Given the description of an element on the screen output the (x, y) to click on. 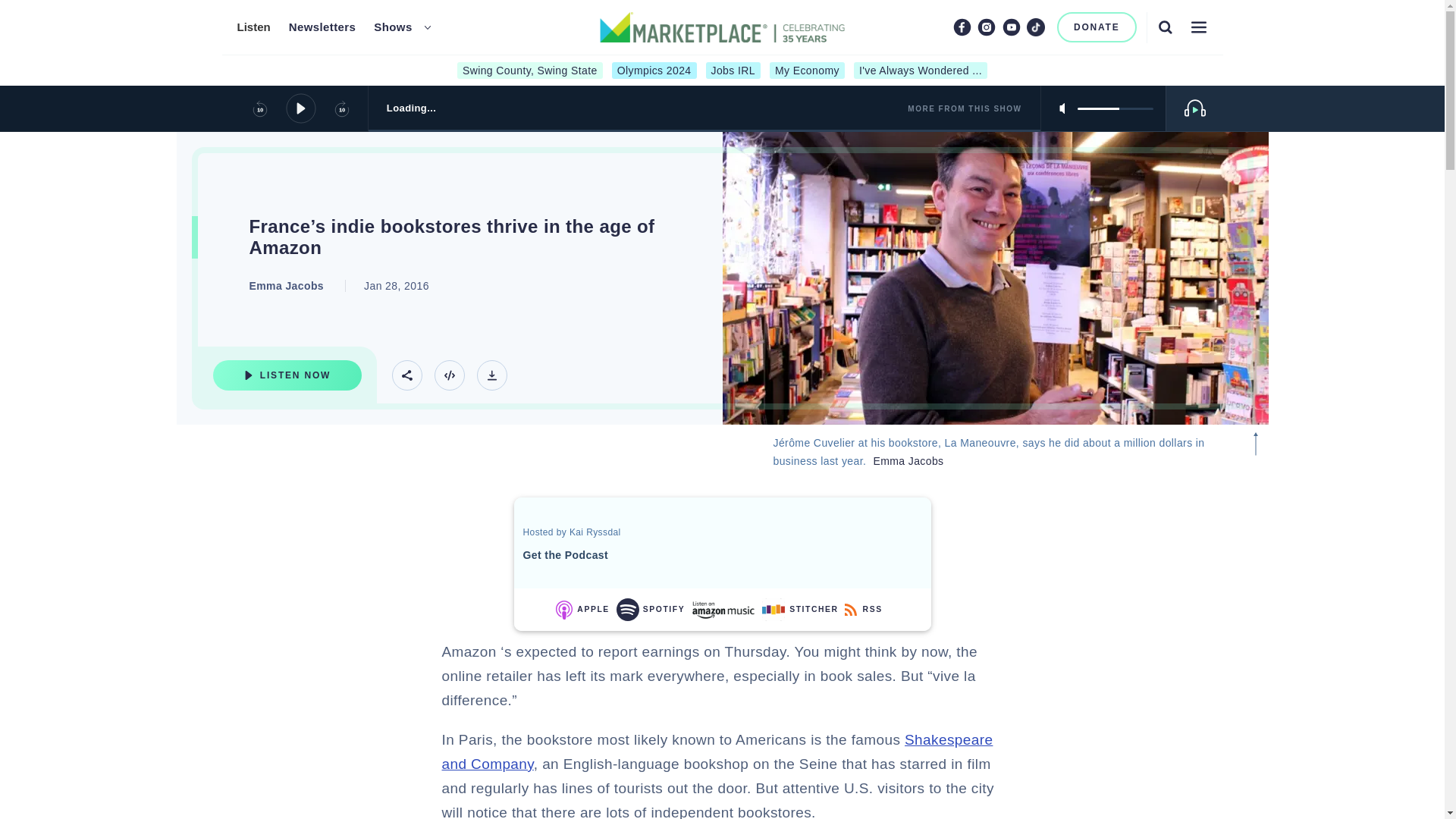
Youtube (1011, 27)
Instagram (985, 27)
5 (1115, 108)
Newsletters (322, 27)
Listen (252, 26)
Listen Now (286, 374)
Download Track (491, 374)
Facebook (962, 27)
volume (1115, 108)
